Given the description of an element on the screen output the (x, y) to click on. 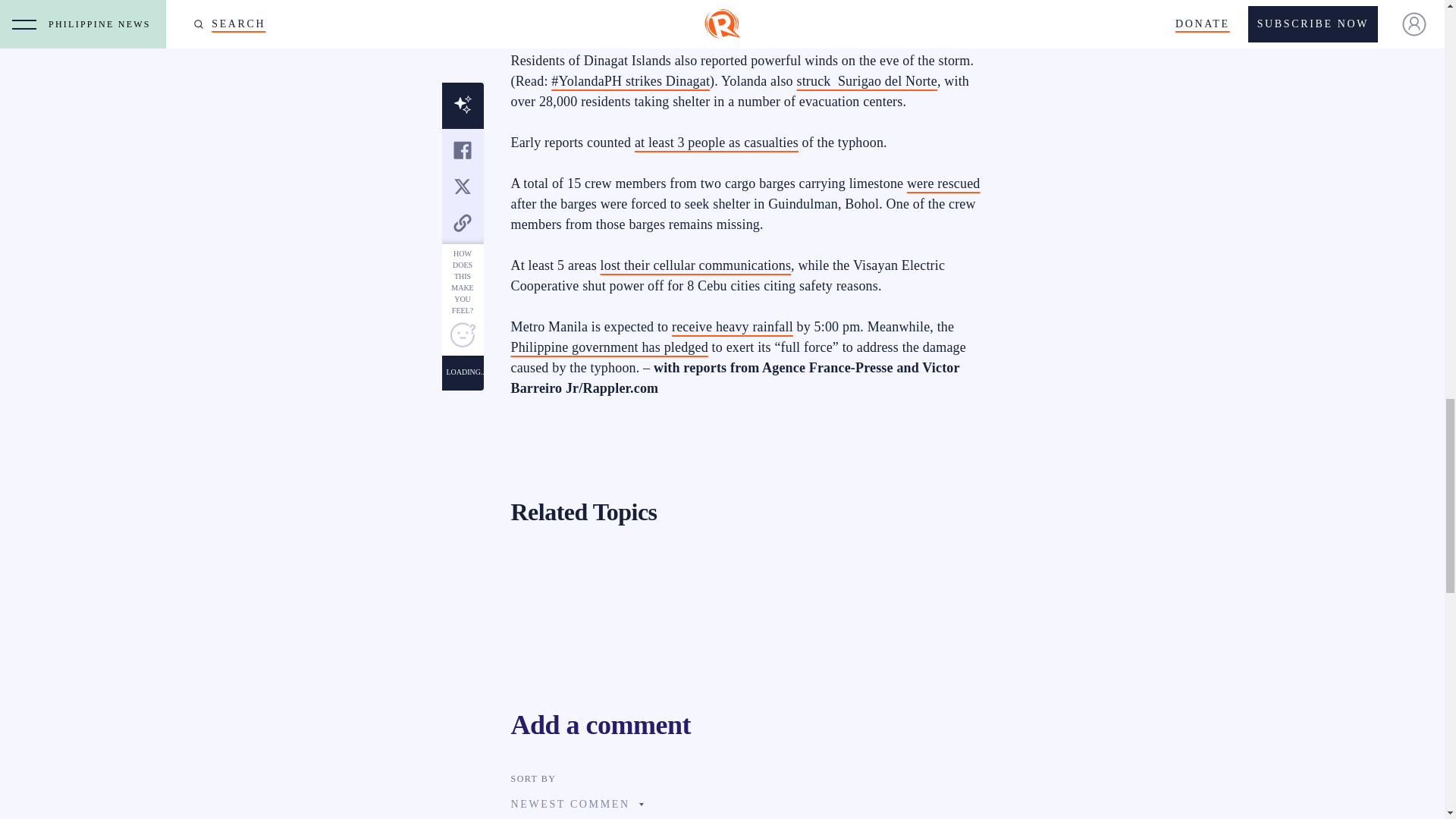
Typhoon Yolanda strikes Dinagat islands (630, 80)
Storm surge floods Tacloban (631, 19)
Typhoon Yolanda kills at least 3 (715, 142)
No cell phone signal in 5 typhoon areas (695, 264)
15 rescued, 1 missing in Bohol  (943, 183)
